Given the description of an element on the screen output the (x, y) to click on. 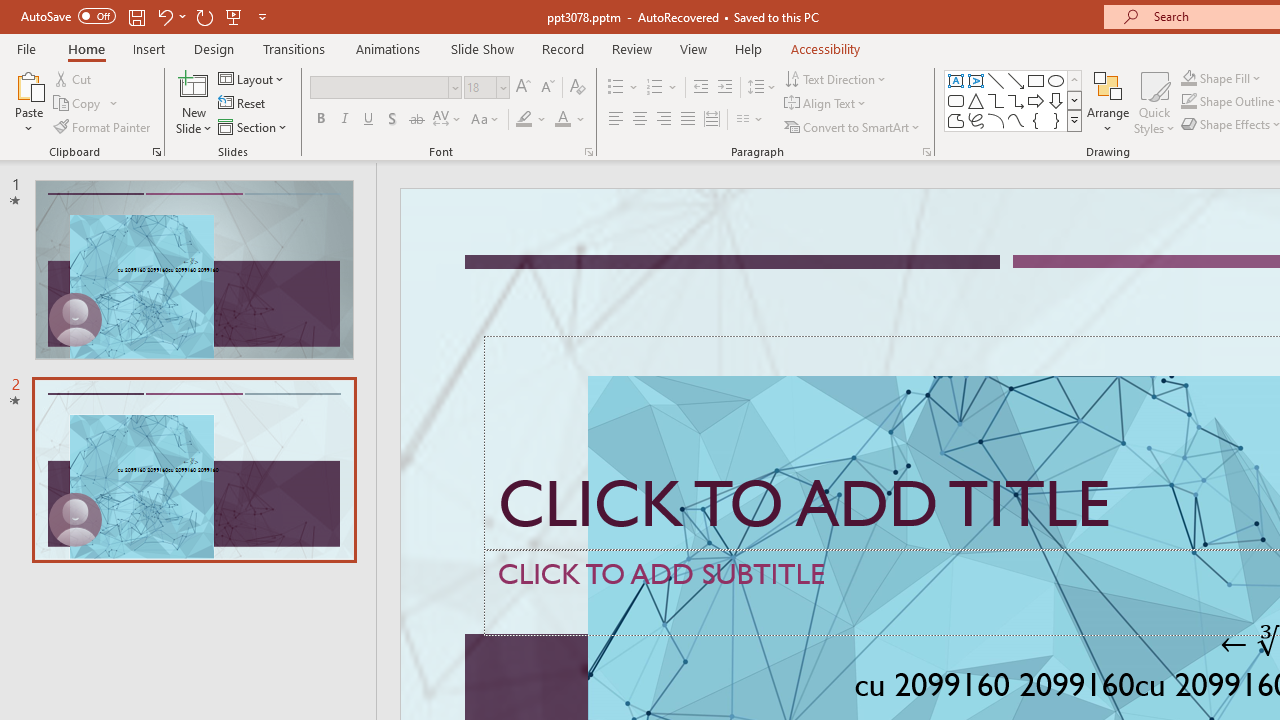
Shape Outline Green, Accent 1 (1188, 101)
